Given the description of an element on the screen output the (x, y) to click on. 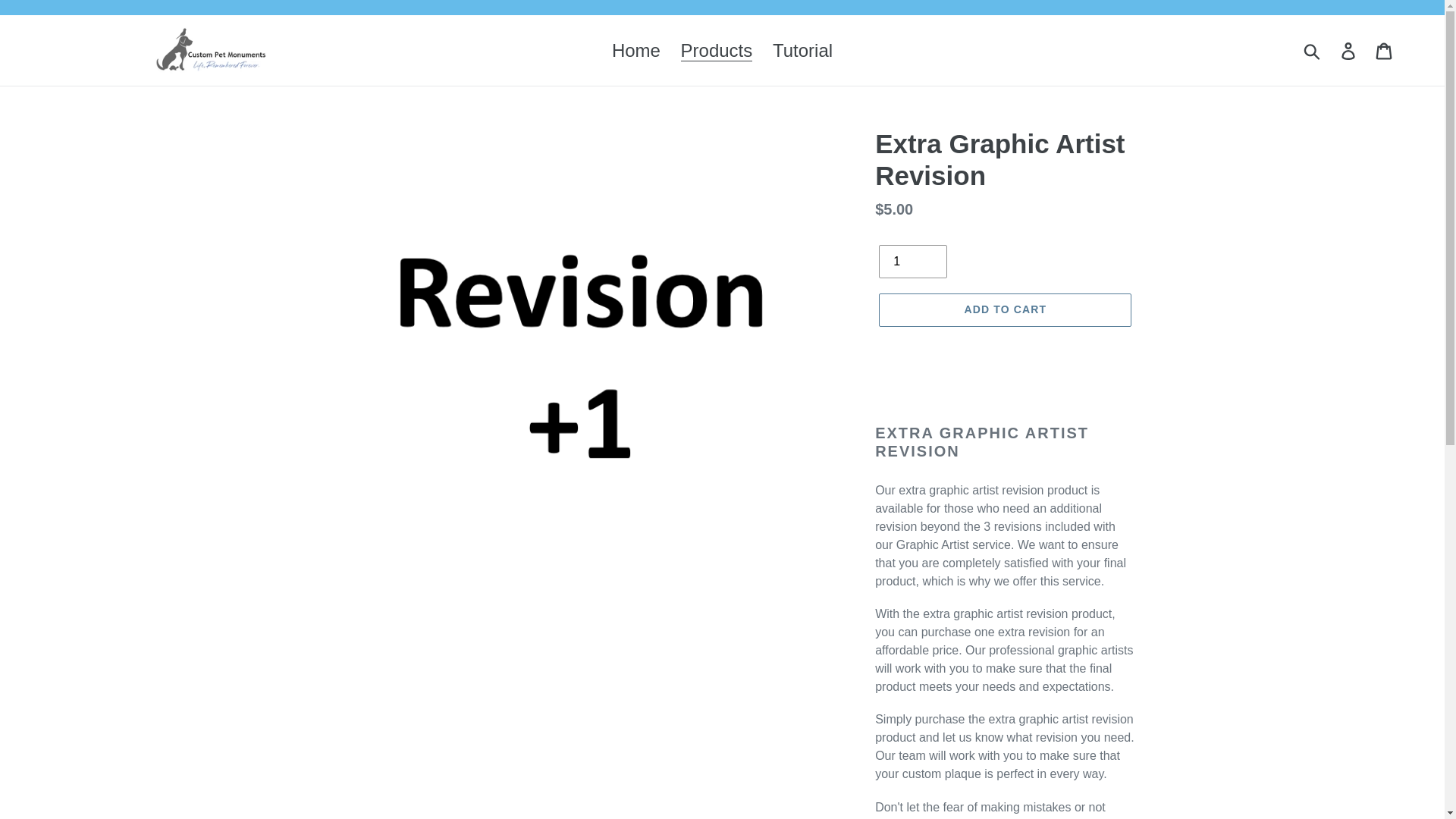
Log in (1349, 49)
1 (913, 261)
Tutorial (802, 50)
Cart (1385, 49)
Home (636, 50)
Products (716, 50)
Submit (1313, 49)
ADD TO CART (1005, 309)
